Given the description of an element on the screen output the (x, y) to click on. 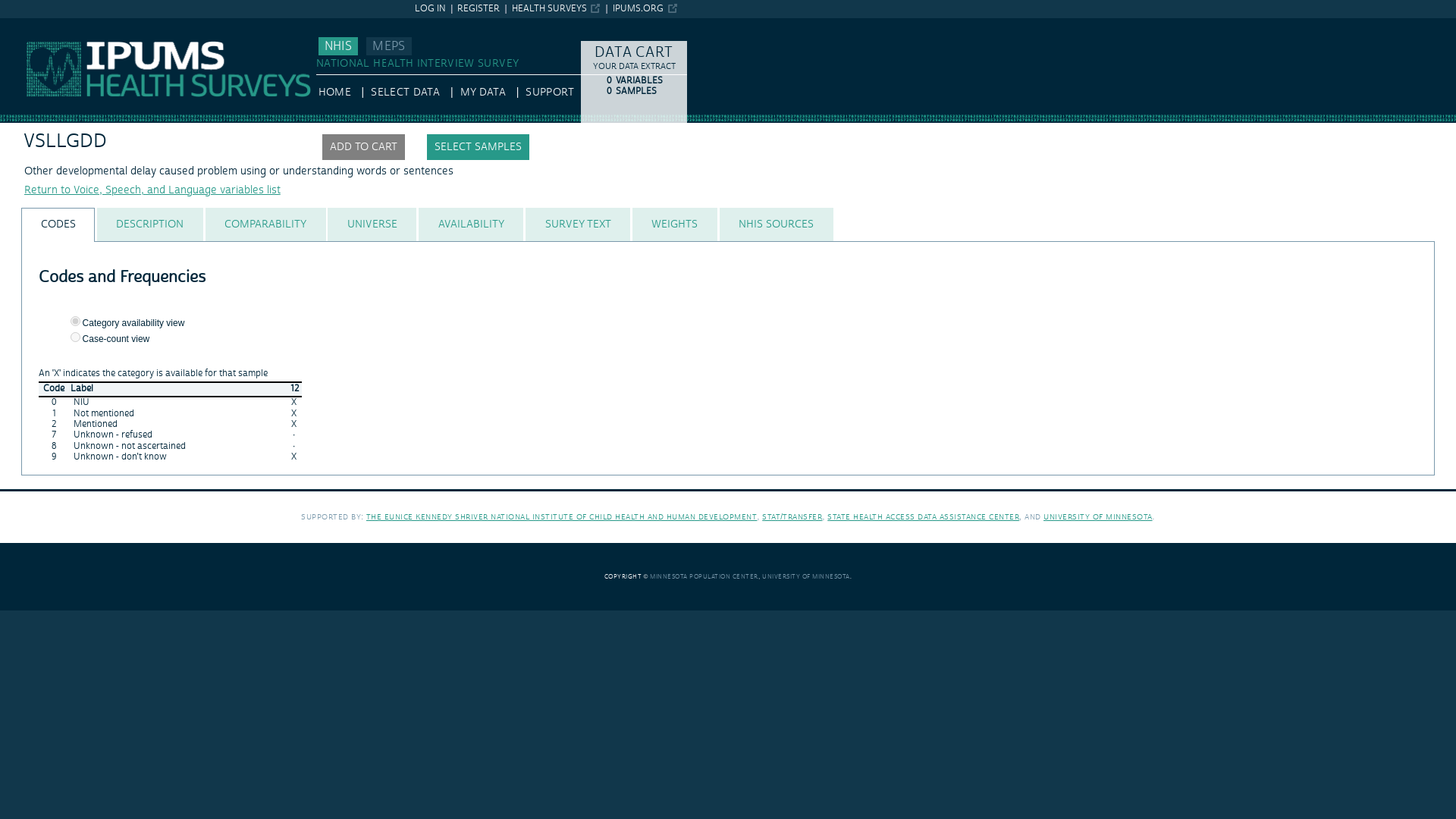
COMPARABILITY (265, 224)
NHIS SOURCES (776, 224)
MY DATA (482, 92)
SELECT DATA (405, 92)
LOG IN (429, 8)
SUPPORT (549, 92)
UNIVERSE (371, 224)
CODES (57, 224)
category (74, 320)
